Given the description of an element on the screen output the (x, y) to click on. 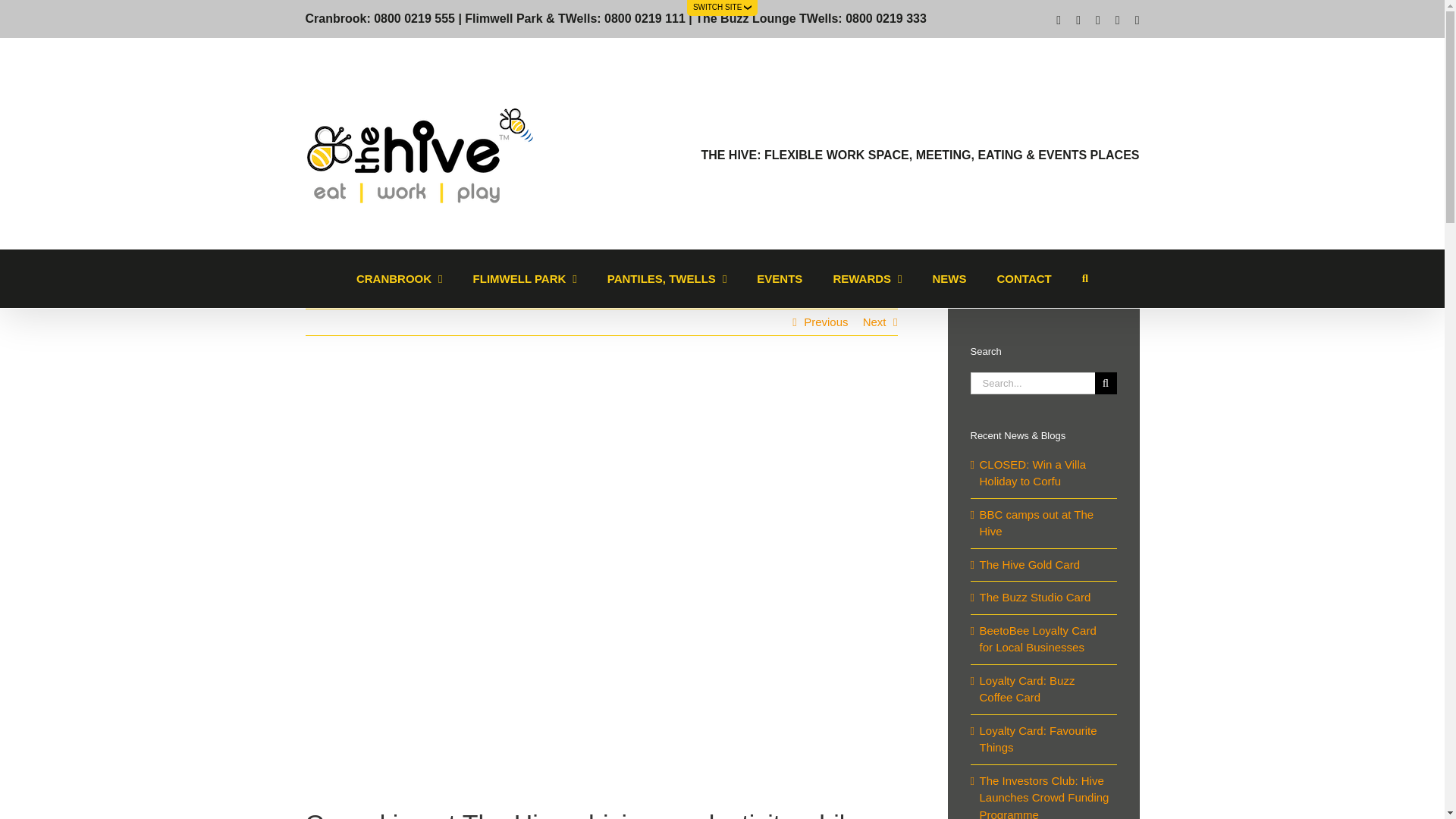
PANTILES, TWELLS (667, 278)
EVENTS (778, 278)
CONTACT (1024, 278)
FLIMWELL PARK (525, 278)
REWARDS (866, 278)
CRANBROOK (399, 278)
NEWS (949, 278)
